Given the description of an element on the screen output the (x, y) to click on. 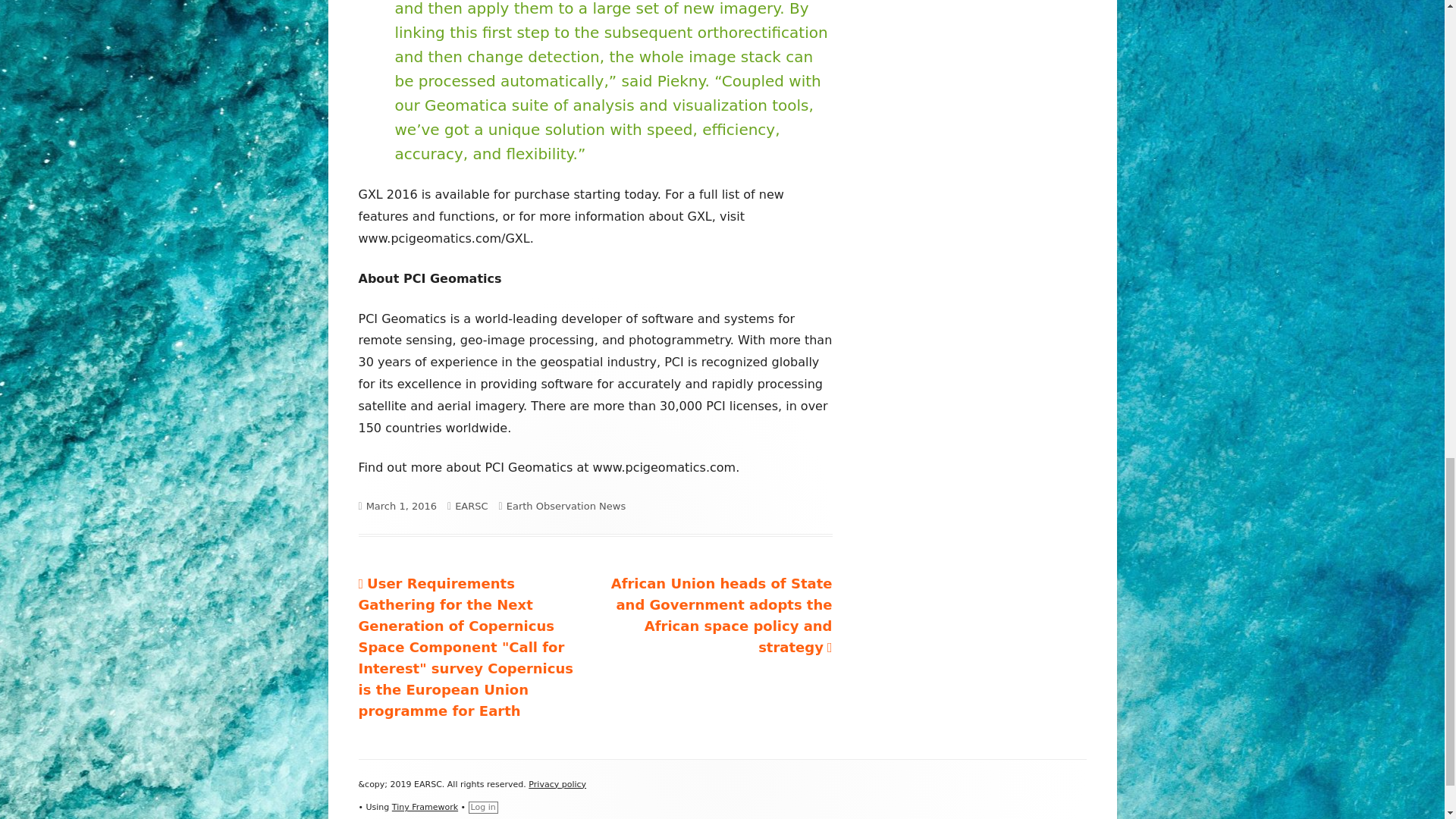
Privacy policy (557, 784)
Tiny Framework (424, 807)
March 1, 2016 (401, 505)
Earth Observation News (566, 505)
EARSC (470, 505)
